Given the description of an element on the screen output the (x, y) to click on. 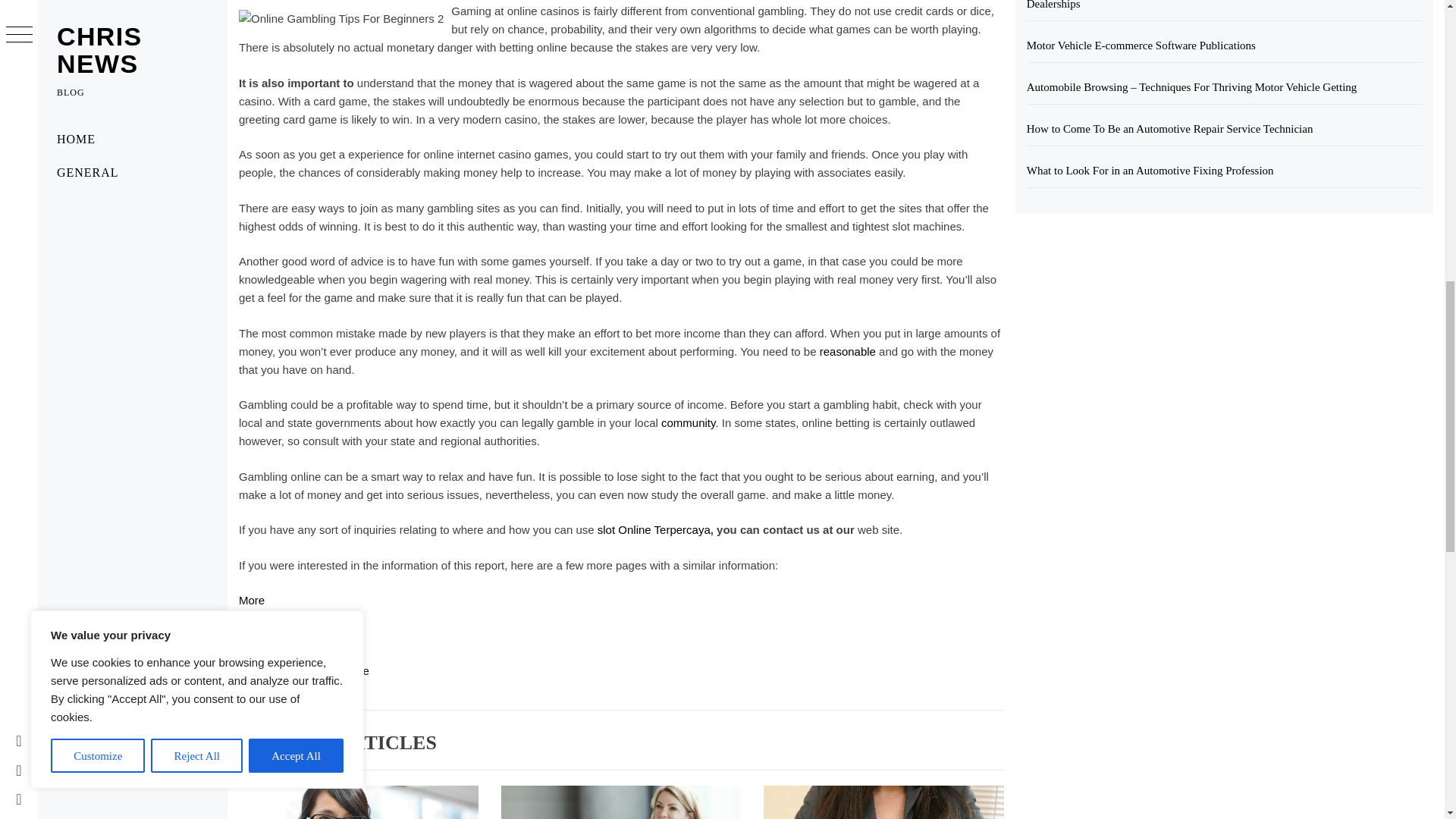
More (251, 599)
slot Online Terpercaya (653, 529)
NEWS (326, 706)
community (687, 422)
GENERAL (267, 706)
reasonable (847, 350)
click here to find out more (303, 670)
More Tips (263, 635)
